Given the description of an element on the screen output the (x, y) to click on. 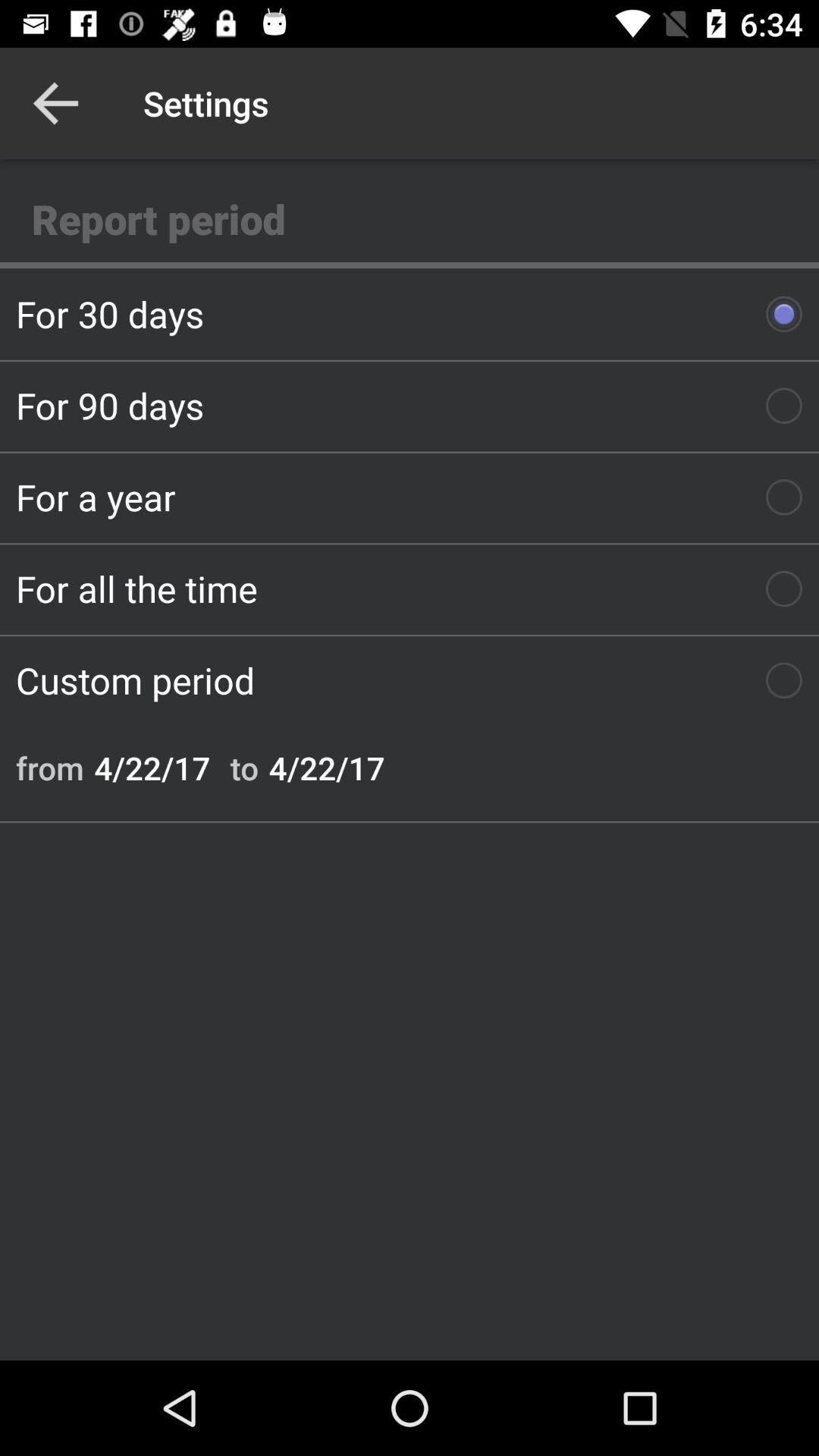
go back to previous (55, 103)
